Given the description of an element on the screen output the (x, y) to click on. 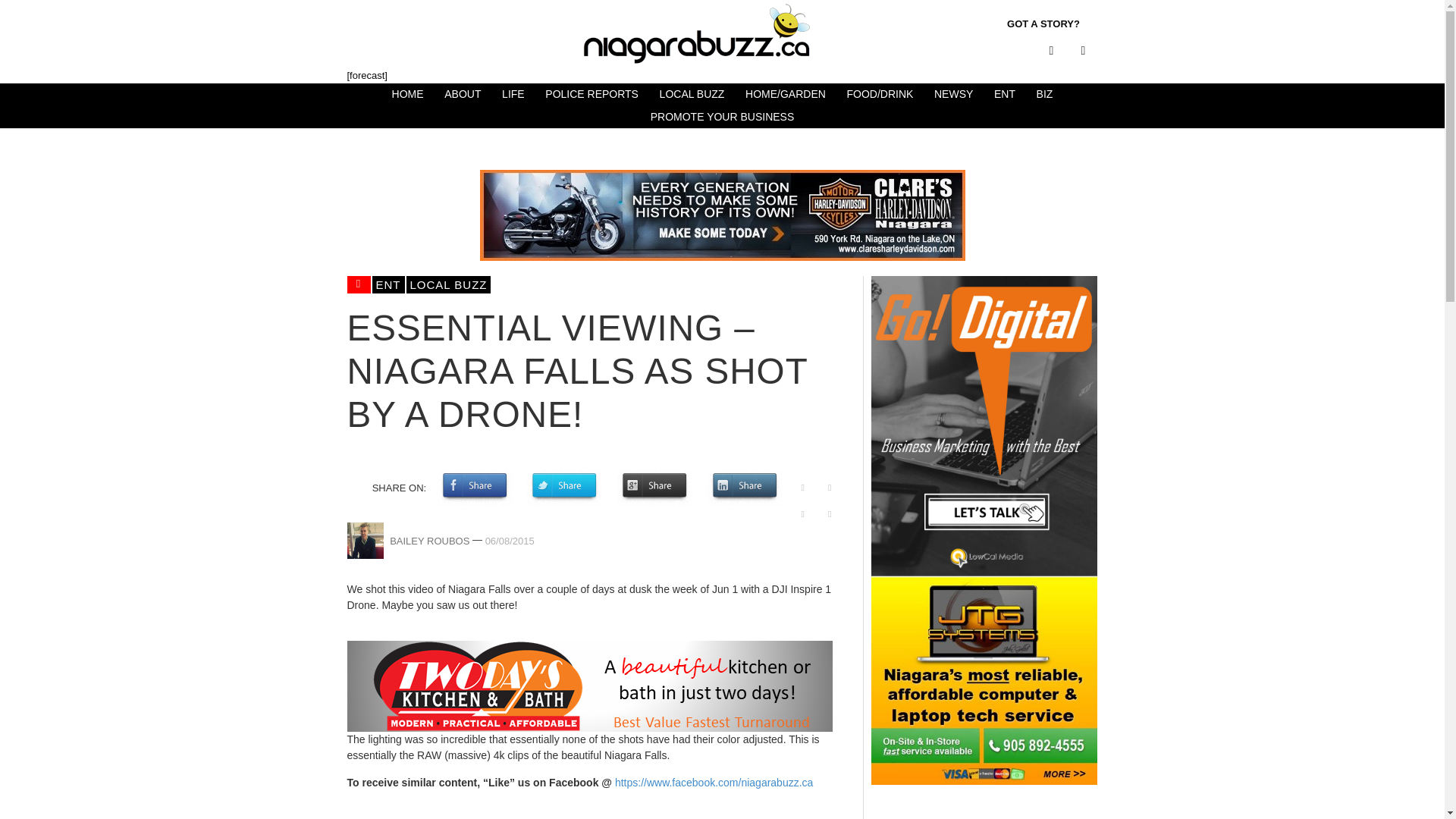
Share on Twitter (563, 487)
View all posts in Local Buzz (449, 285)
View all posts in Ent (387, 285)
Share on Pinterest (802, 487)
LOCAL BUZZ (691, 94)
GOT A STORY? (1043, 24)
LOCAL BUZZ (449, 285)
NEWSY (952, 94)
Share on Tumblr (829, 487)
POLICE REPORTS (591, 94)
BIZ (1044, 94)
Video Post (359, 284)
Share on E-Mail (829, 514)
ABOUT (462, 94)
Share on Facebook (474, 487)
